Given the description of an element on the screen output the (x, y) to click on. 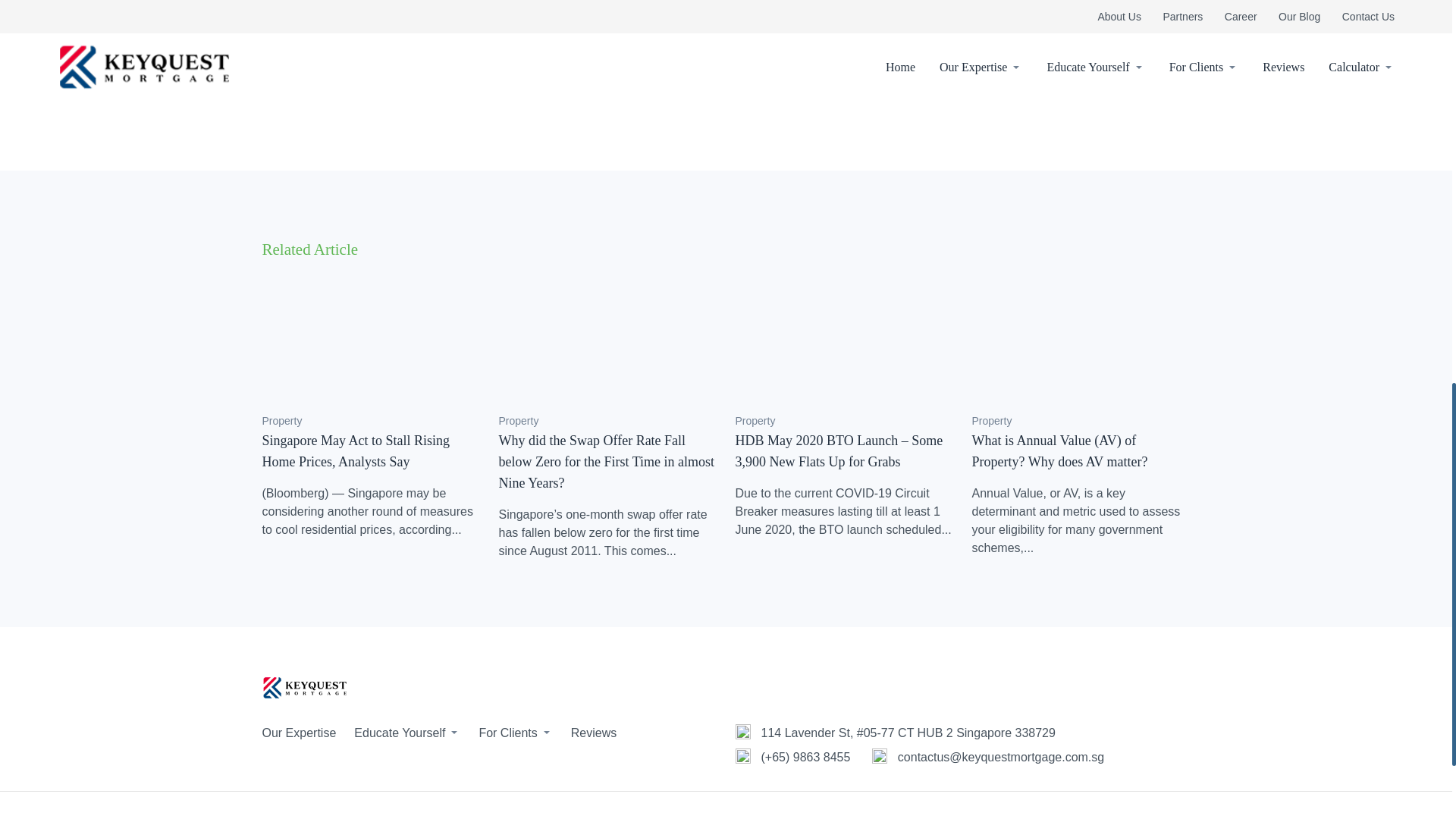
Property (518, 419)
Singapore May Act to Stall Rising Home Prices, Analysts Say (355, 450)
Property (282, 419)
